Given the description of an element on the screen output the (x, y) to click on. 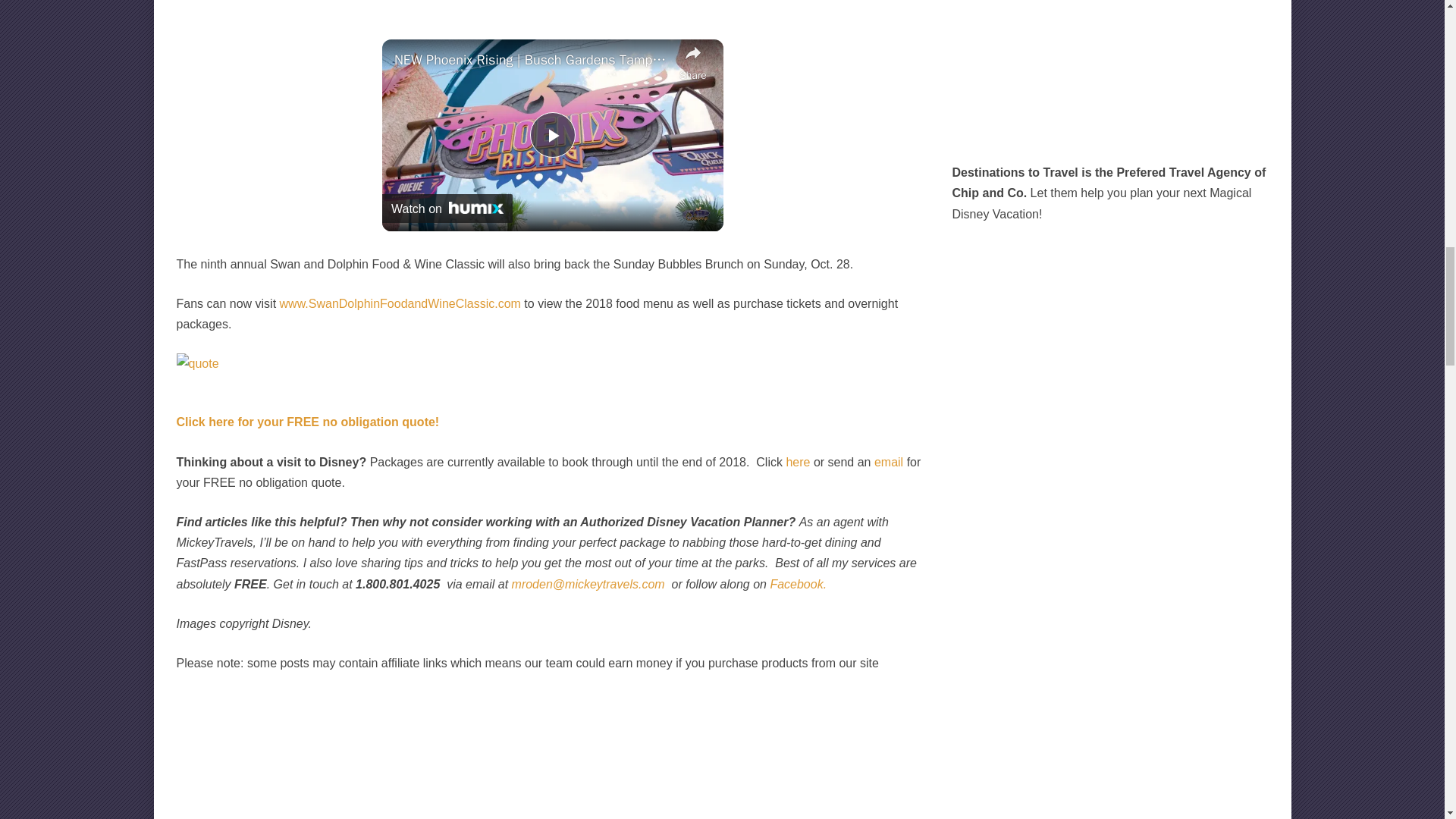
Play Video (552, 135)
